Given the description of an element on the screen output the (x, y) to click on. 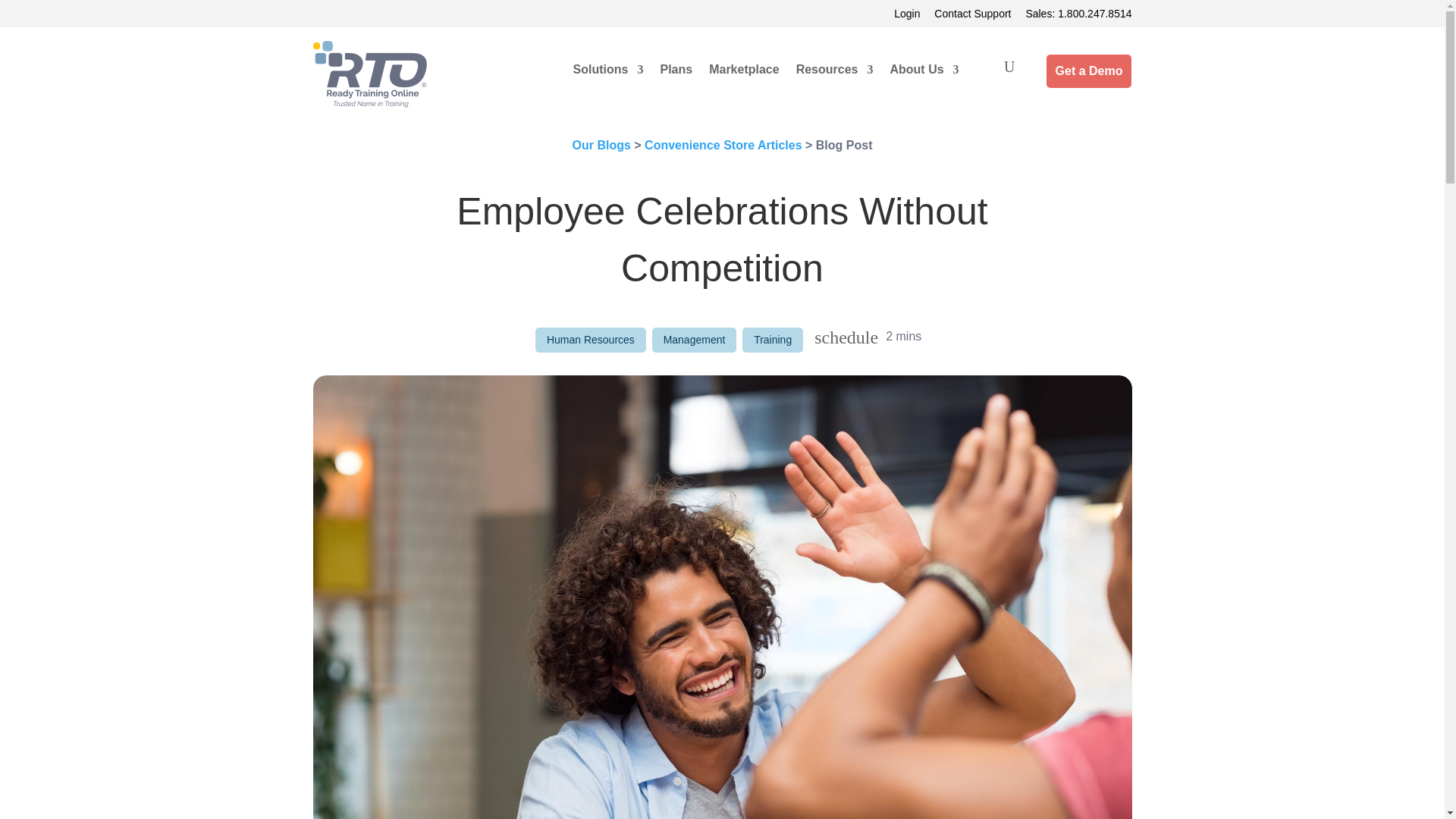
About Us (923, 72)
Login (906, 13)
Solutions (608, 72)
Sales: 1.800.247.8514 (1078, 13)
Marketplace (743, 72)
Contact Support (972, 13)
Get a Demo (1089, 70)
Resources (834, 72)
Plans (676, 72)
